Given the description of an element on the screen output the (x, y) to click on. 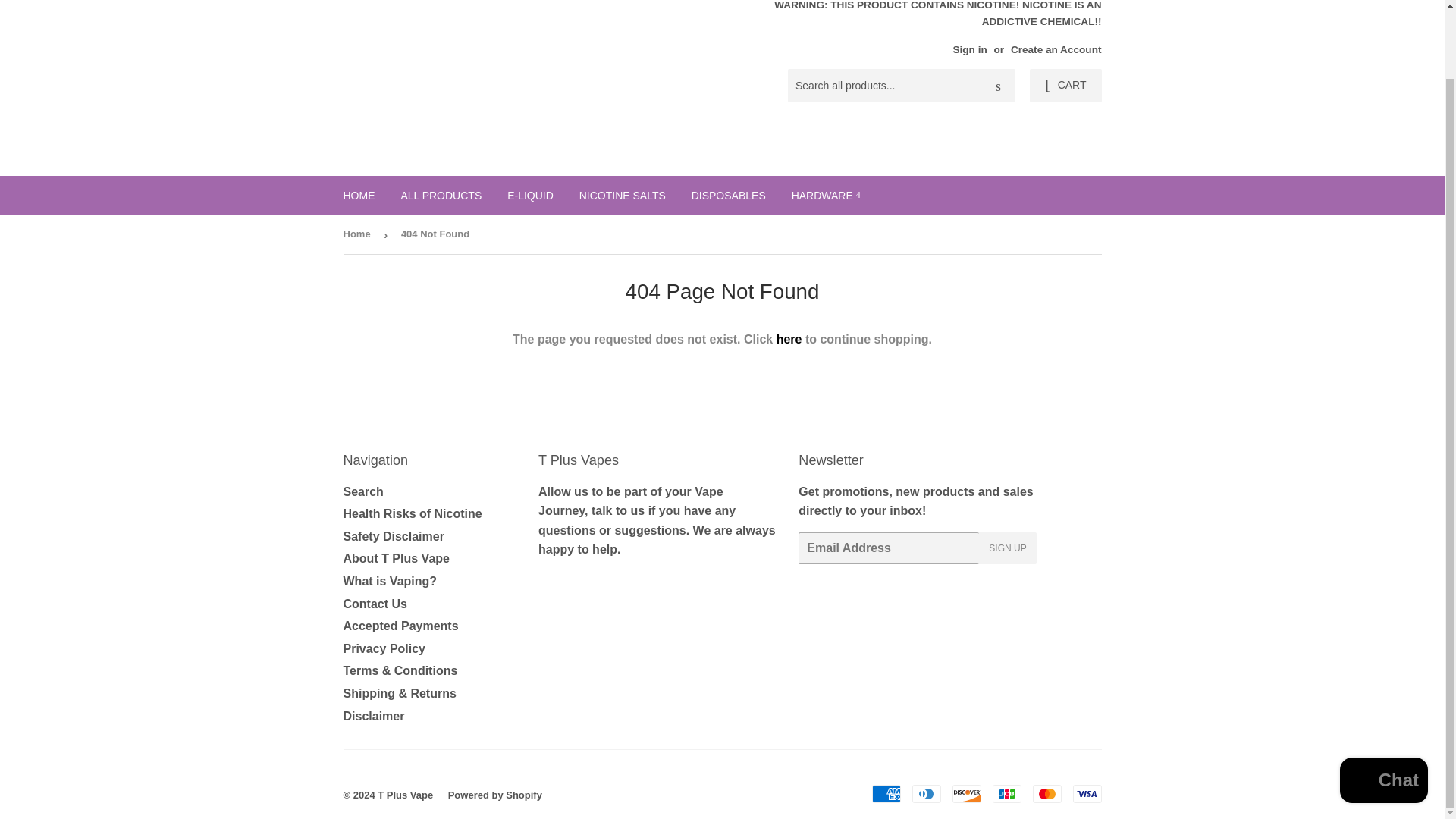
What is Vaping? (389, 581)
E-LIQUID (530, 195)
About T Plus Vape (395, 558)
HOME (359, 195)
Mastercard (1046, 793)
CART (1064, 85)
American Express (886, 793)
Search (997, 86)
HARDWARE (826, 195)
Health Risks of Nicotine (411, 513)
